Given the description of an element on the screen output the (x, y) to click on. 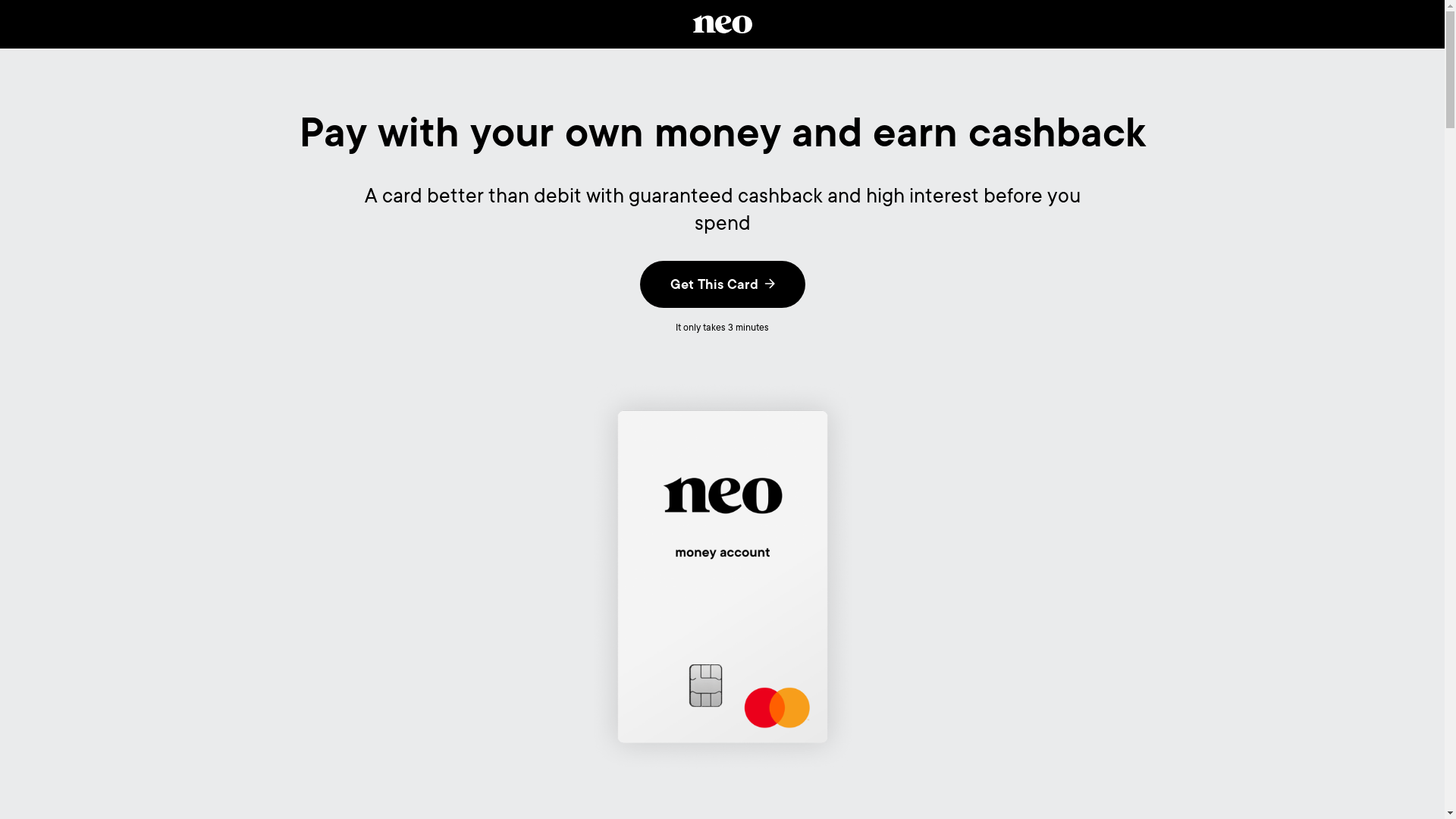
Get This Card Element type: text (722, 283)
